Given the description of an element on the screen output the (x, y) to click on. 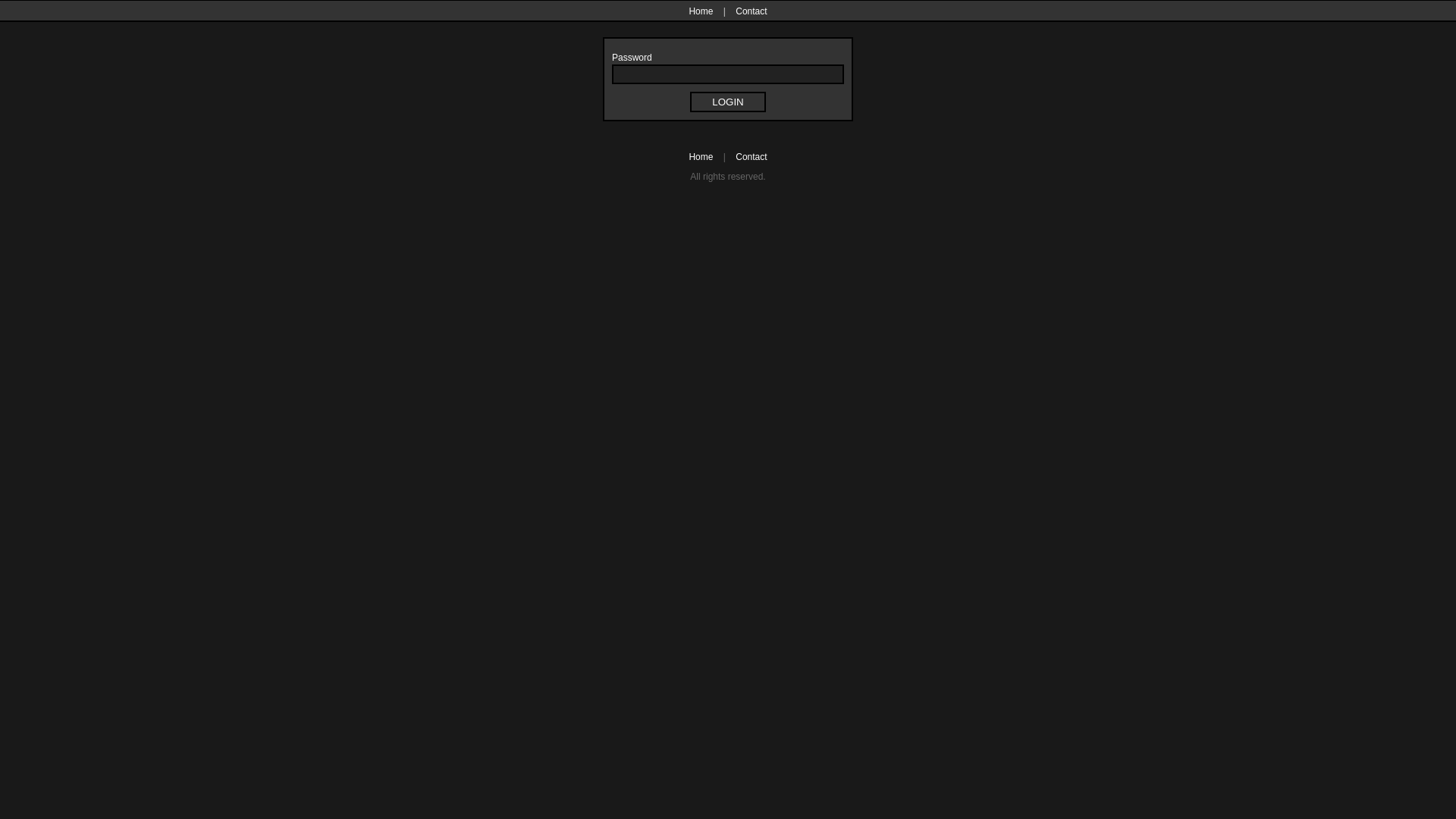
Home Element type: text (704, 156)
Login Element type: text (727, 101)
Home Element type: text (704, 11)
Contact Element type: text (747, 156)
Contact Element type: text (747, 11)
